Given the description of an element on the screen output the (x, y) to click on. 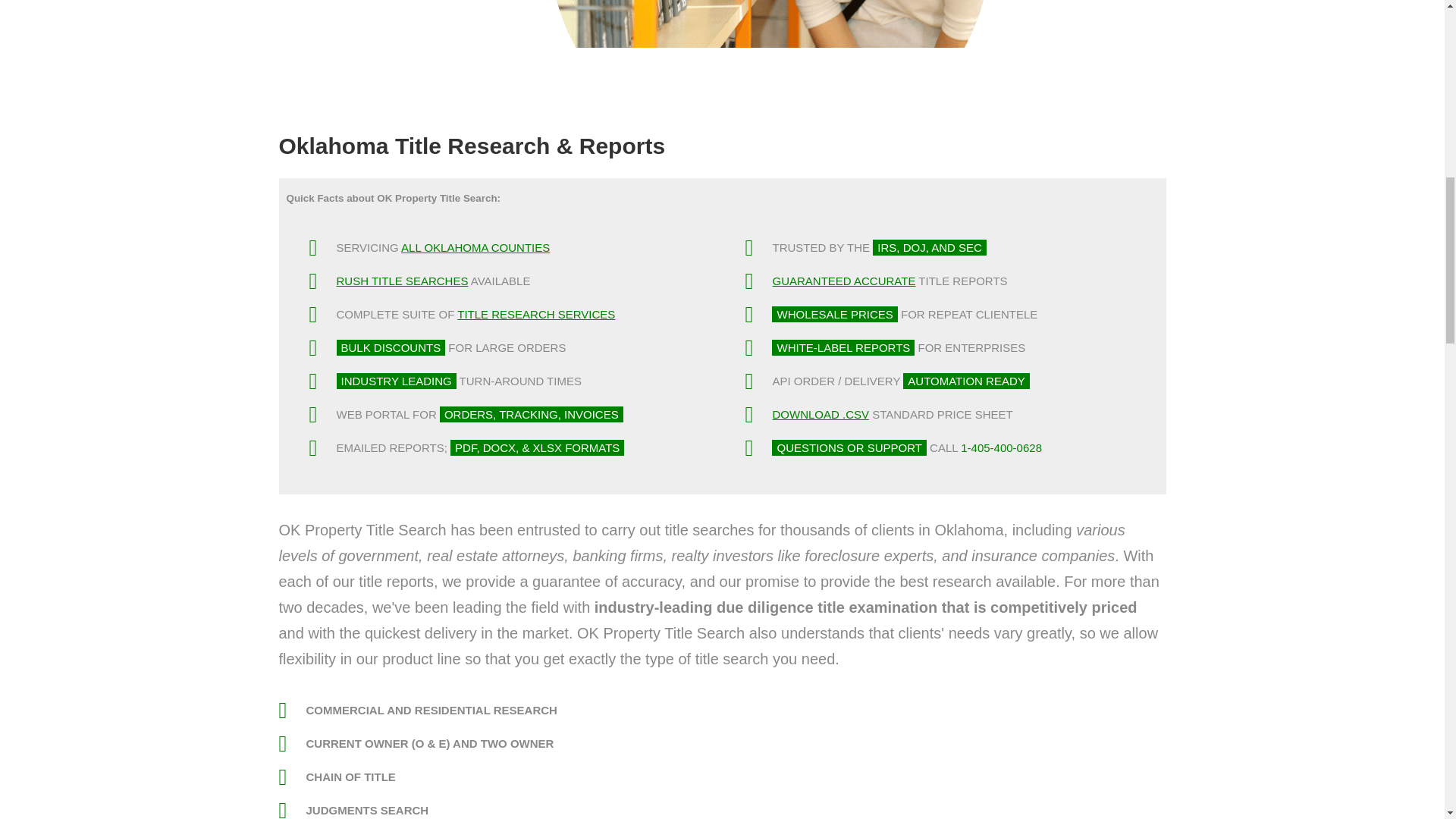
Oklahoma Title Search Products List (535, 314)
ALL OKLAHOMA COUNTIES (475, 246)
RUSH TITLE SEARCHES (402, 280)
Faster Searches for Oklahoma Counties (402, 280)
Oklahoma Price Sheet (820, 413)
Complete OK Coverage (475, 246)
TITLE RESEARCH SERVICES (535, 314)
DOWNLOAD .CSV (820, 413)
1-405-400-0628 (1001, 447)
GUARANTEED ACCURATE (843, 280)
